Given the description of an element on the screen output the (x, y) to click on. 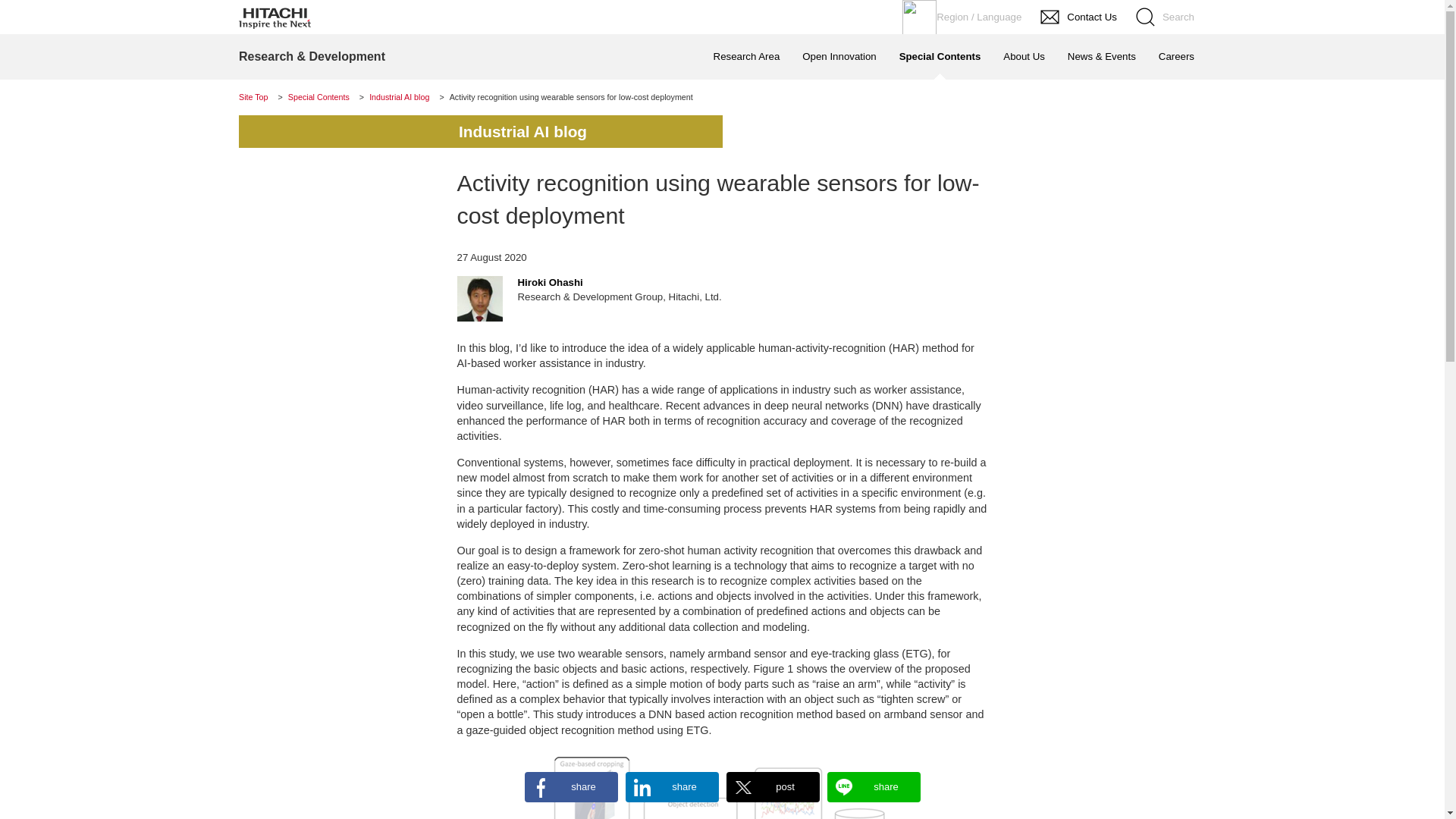
share (570, 787)
share (873, 787)
Site Top (252, 96)
share (670, 787)
Search (1166, 17)
Open Innovation (838, 56)
Research Area (746, 56)
Careers (1176, 56)
Industrial AI blog (399, 96)
post (772, 787)
